Given the description of an element on the screen output the (x, y) to click on. 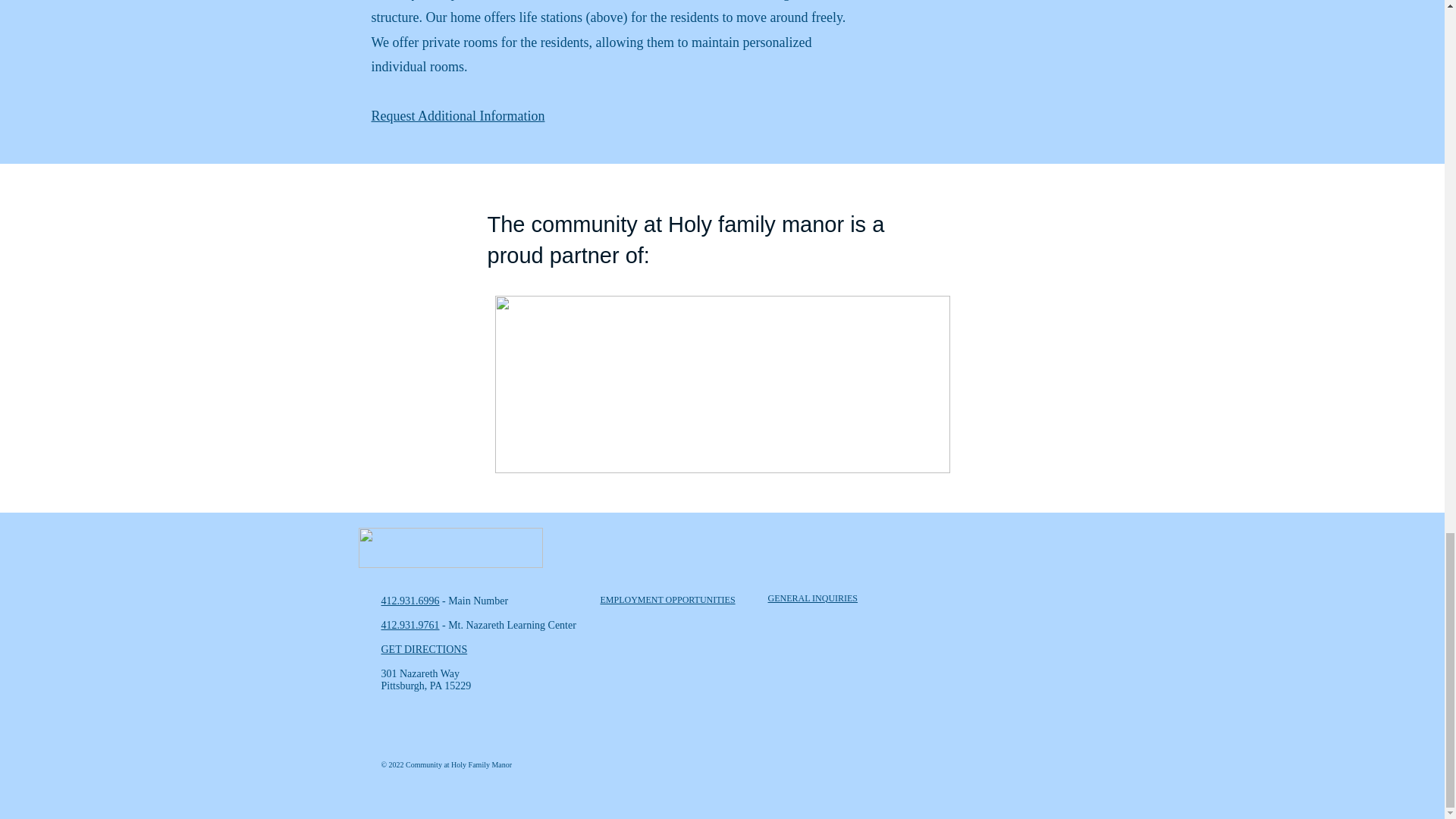
Request Additional Information (457, 115)
GET DIRECTIONS (423, 649)
cropped-AFA-teal-logo-transparent.png (722, 384)
412.931.6996 (409, 600)
412.931.9761 (409, 624)
GENERAL INQUIRIES (812, 597)
EMPLOYMENT OPPORTUNITIES (667, 599)
